Given the description of an element on the screen output the (x, y) to click on. 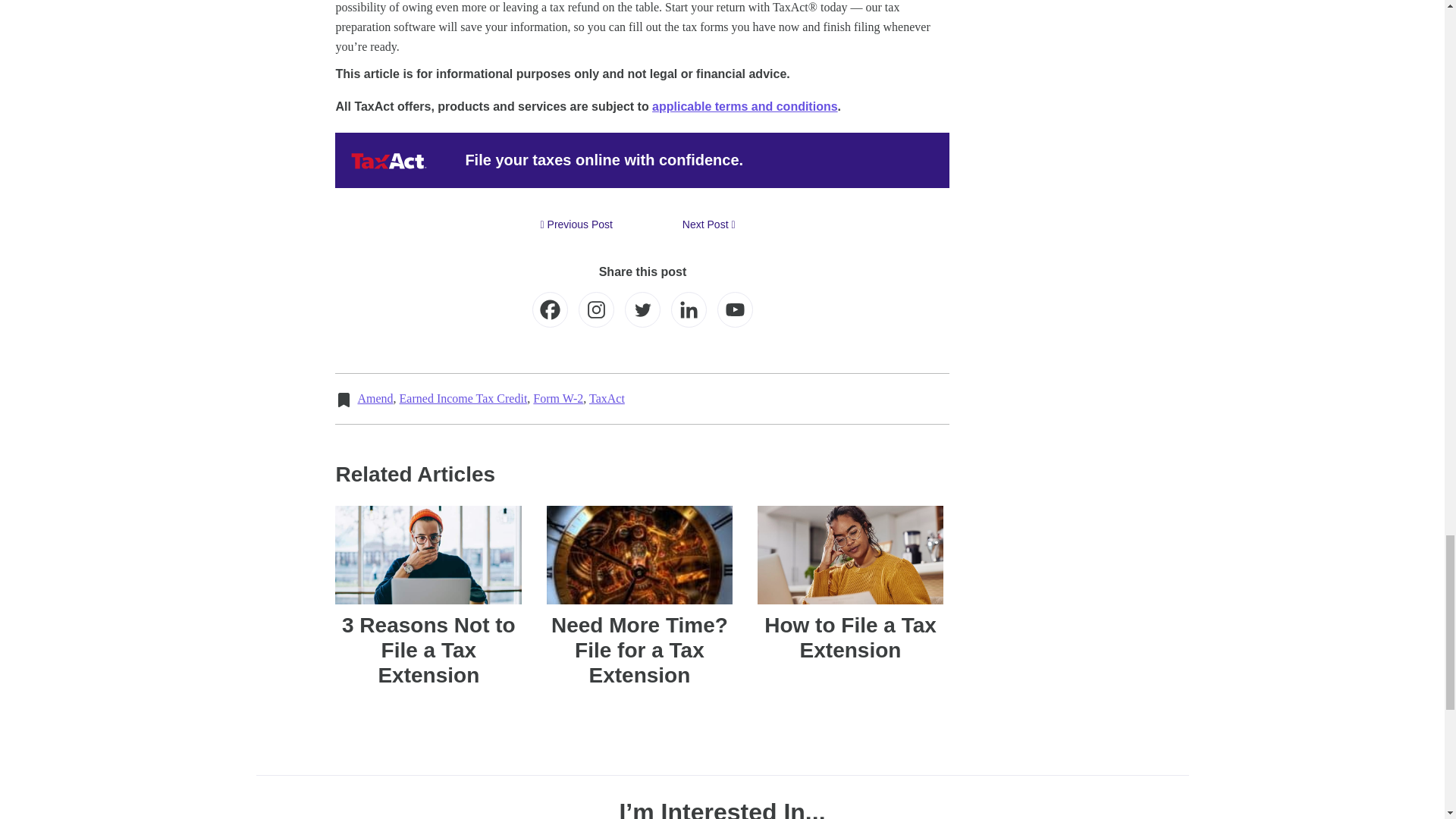
Earned Income Tax Credit (462, 398)
Twitter (642, 309)
Instagram (596, 309)
Previous Post (576, 224)
Next Post (709, 224)
Amend (374, 398)
Youtube (735, 309)
Linkedin (688, 309)
Facebook (550, 309)
applicable terms and conditions (745, 106)
